Given the description of an element on the screen output the (x, y) to click on. 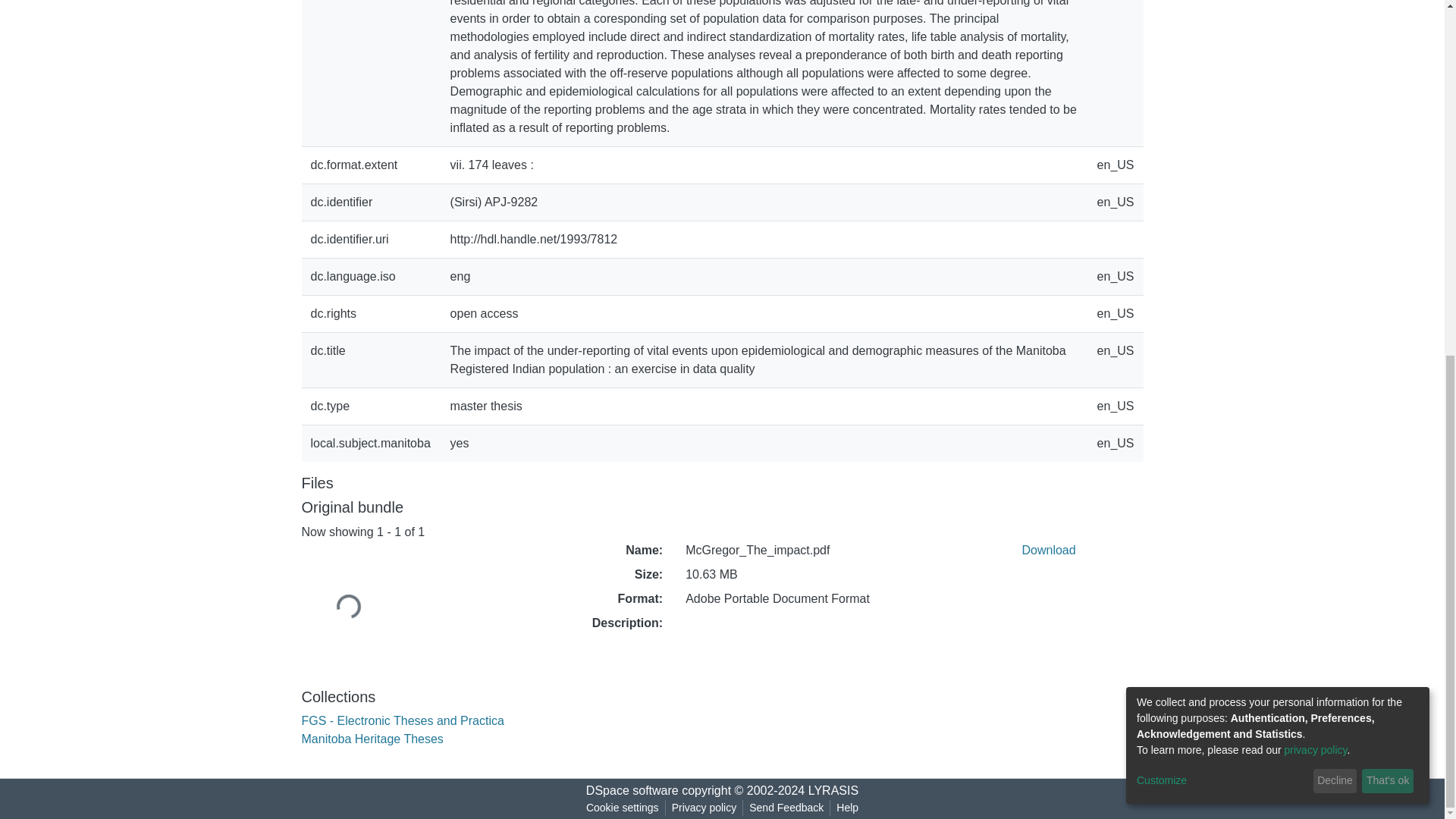
LYRASIS (833, 789)
Send Feedback (785, 807)
Download (1048, 549)
Manitoba Heritage Theses (372, 738)
Customize (1222, 156)
Privacy policy (703, 807)
Help (846, 807)
Decline (1334, 156)
That's ok (1387, 156)
Cookie settings (622, 807)
FGS - Electronic Theses and Practica (402, 720)
privacy policy (1316, 125)
DSpace software (632, 789)
